Given the description of an element on the screen output the (x, y) to click on. 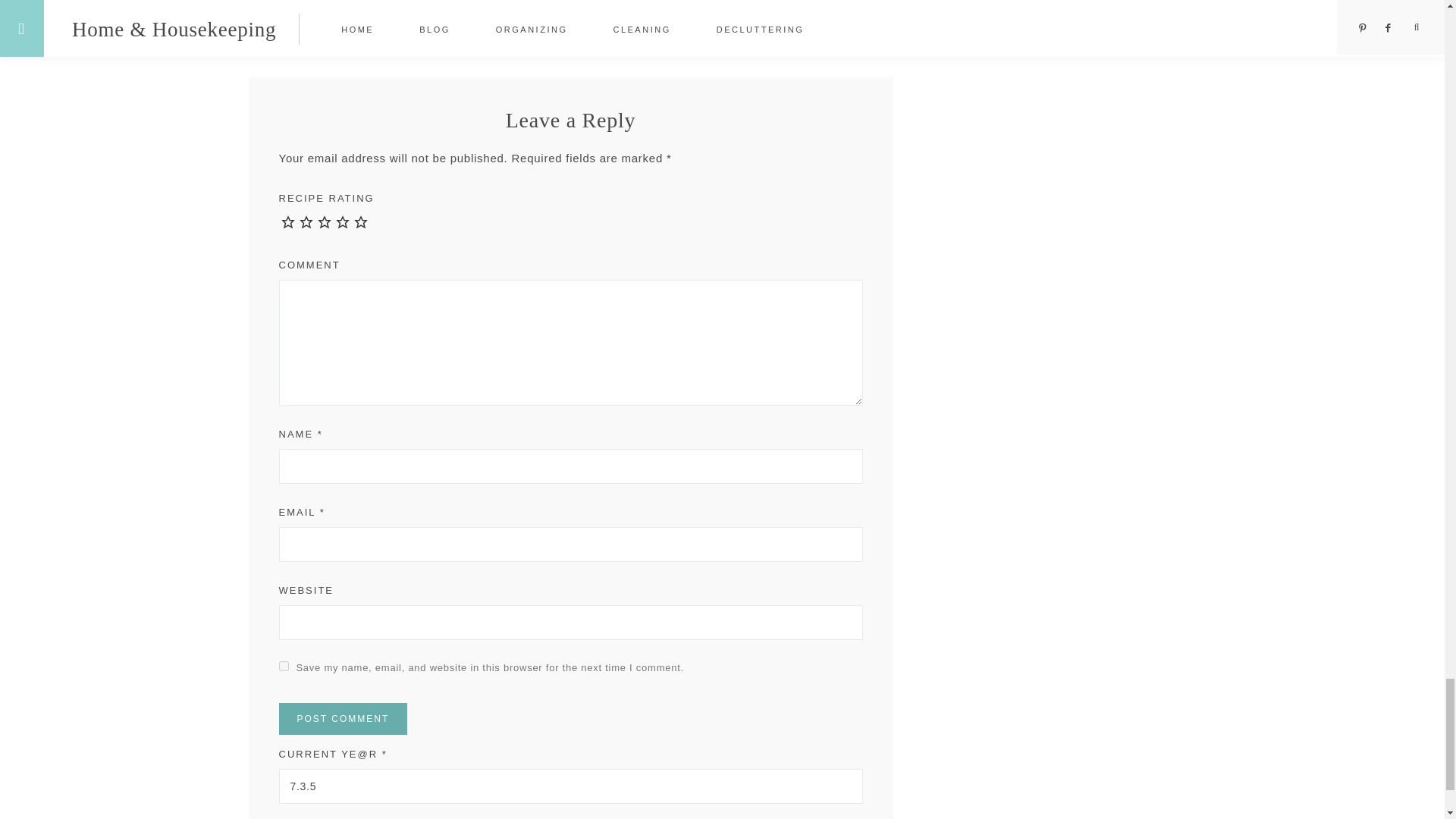
How To Make Coconut Whipped Cream (370, 5)
7.3.5 (571, 786)
Permanent Link to How To Make Coconut Whipped Cream (370, 5)
Post Comment (343, 718)
yes (283, 665)
